Given the description of an element on the screen output the (x, y) to click on. 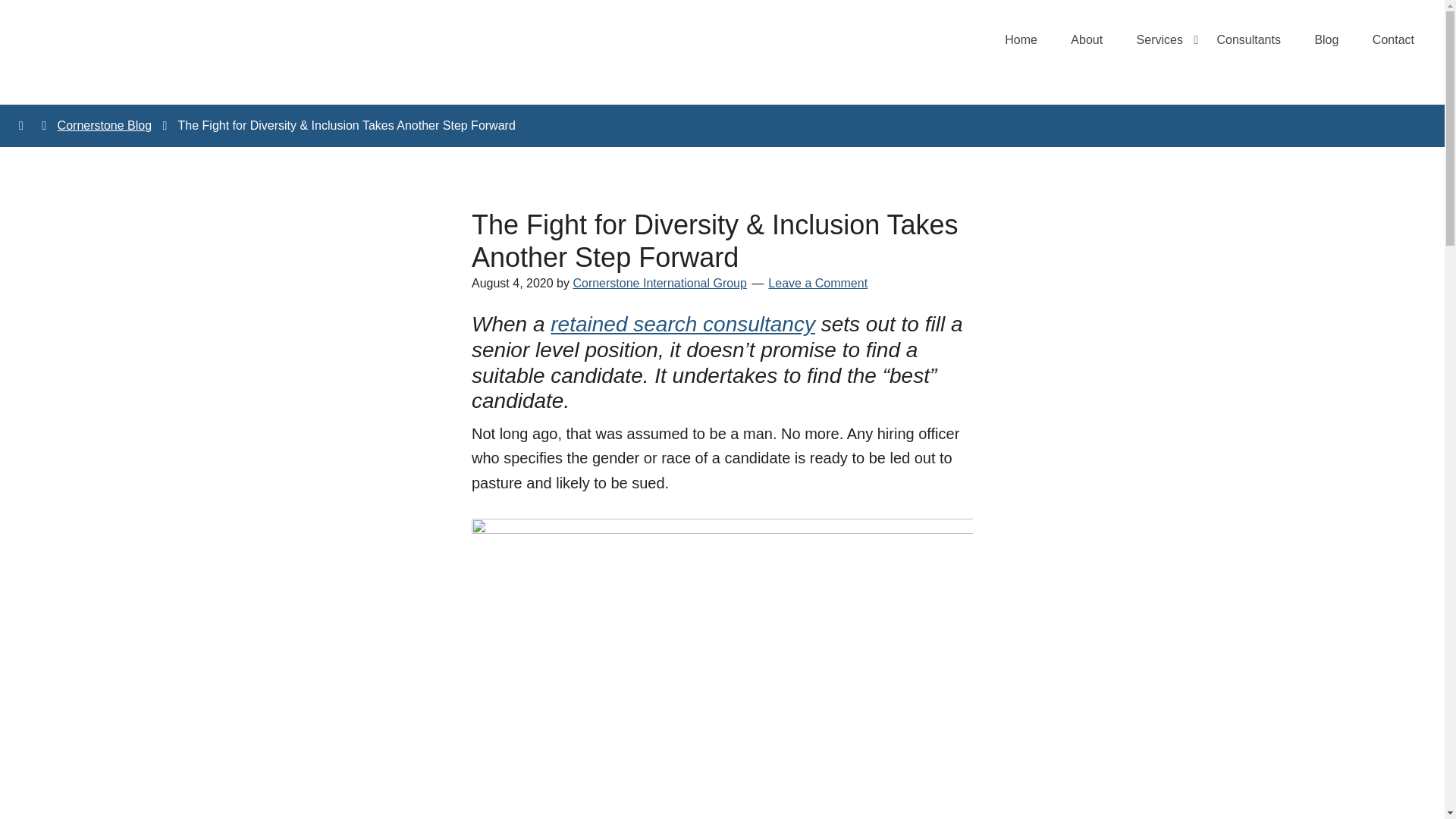
Contact (1392, 39)
About (1086, 39)
Leave a Comment (817, 282)
Cornerstone Blog (105, 124)
Home (1021, 39)
Consultants (1248, 39)
Cornerstone International Group (658, 282)
Cornerstone Atlanta (146, 49)
retained search consultancy (682, 323)
